Given the description of an element on the screen output the (x, y) to click on. 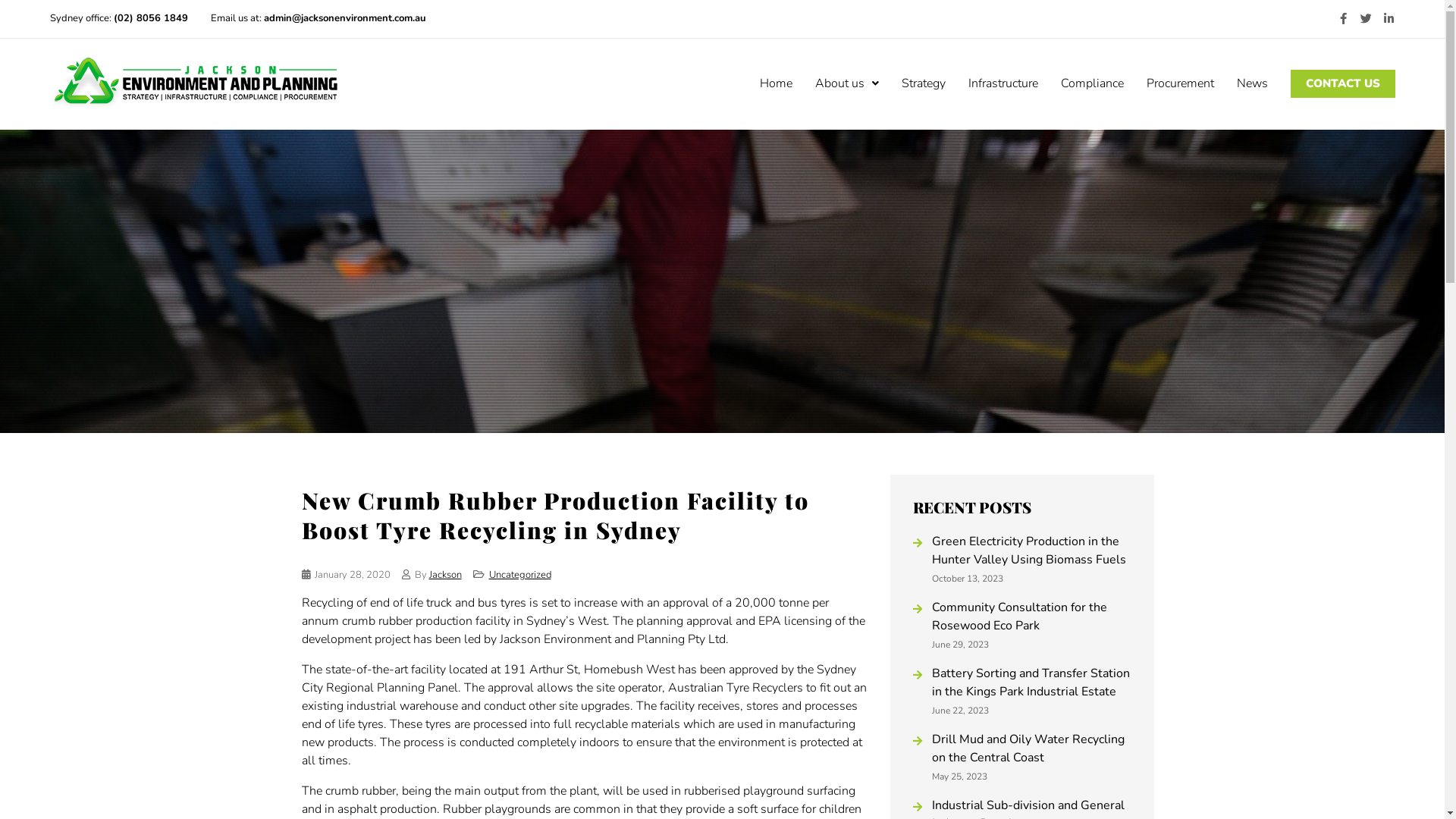
Uncategorized Element type: text (519, 573)
Home Element type: text (775, 83)
Drill Mud and Oily Water Recycling on the Central Coast Element type: text (1030, 747)
Strategy Element type: text (923, 83)
Community Consultation for the Rosewood Eco Park Element type: text (1030, 615)
CONTACT US Element type: text (1342, 83)
admin@jacksonenvironment.com.au Element type: text (344, 18)
Compliance Element type: text (1091, 83)
Infrastructure Element type: text (1003, 83)
Jackson Element type: text (445, 573)
Procurement Element type: text (1180, 83)
(02) 8056 1849 Element type: text (150, 18)
News Element type: text (1251, 83)
About us Element type: text (846, 83)
